Given the description of an element on the screen output the (x, y) to click on. 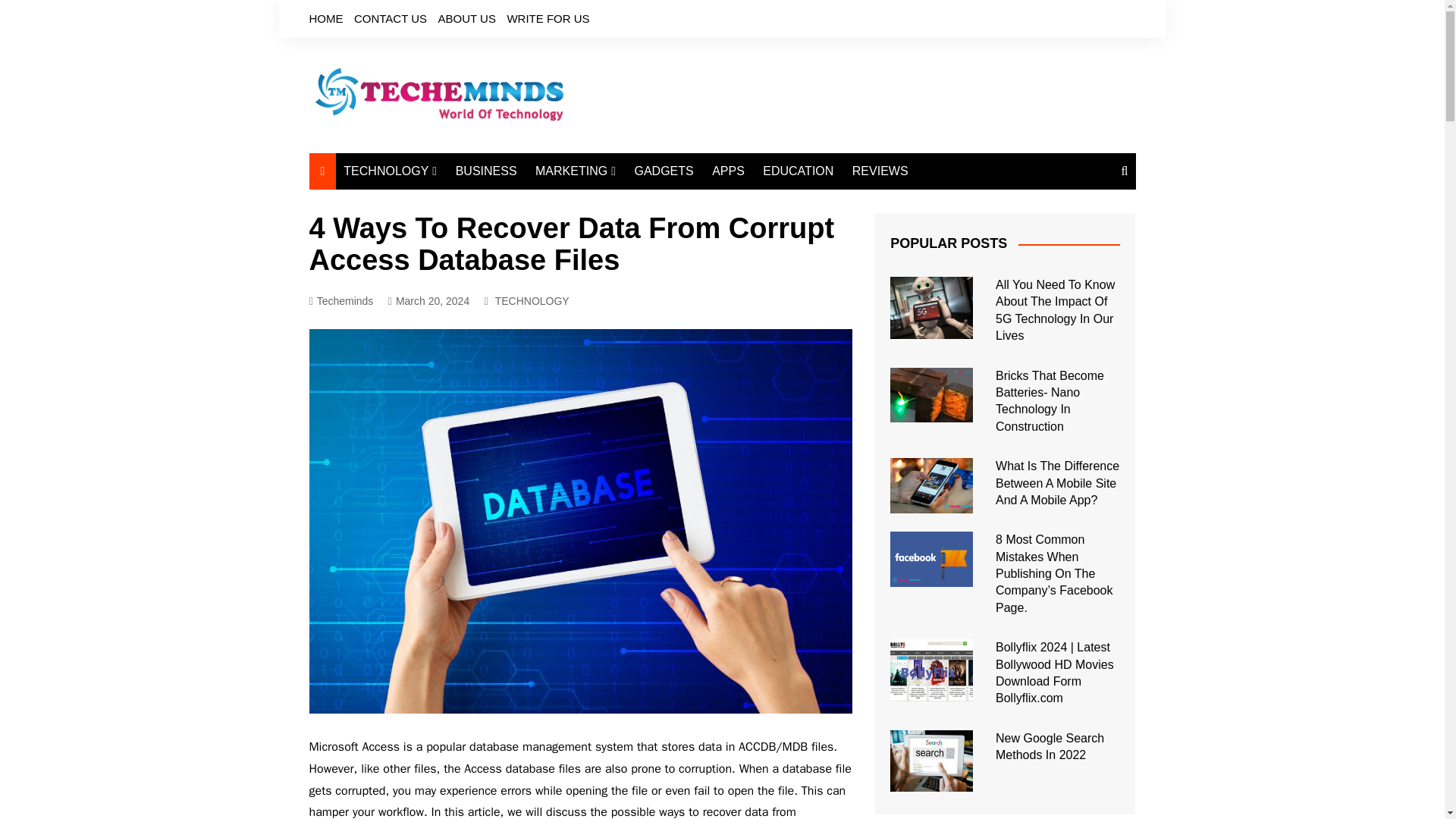
BUSINESS (486, 171)
TECHNOLOGY (532, 300)
HOME (325, 18)
March 20, 2024 (428, 301)
ABOUT US (467, 18)
CLOUD COMPUTING (419, 239)
CONTACT US (389, 18)
EDUCATION (798, 171)
WRITE FOR US (547, 18)
ARTIFICIAL INTELLIGENCE (419, 208)
DIGITAL MARKETING (610, 201)
APPS (728, 171)
GADGETS (663, 171)
5G TECHNOLOGY (419, 264)
TECHNOLOGY (390, 171)
